Given the description of an element on the screen output the (x, y) to click on. 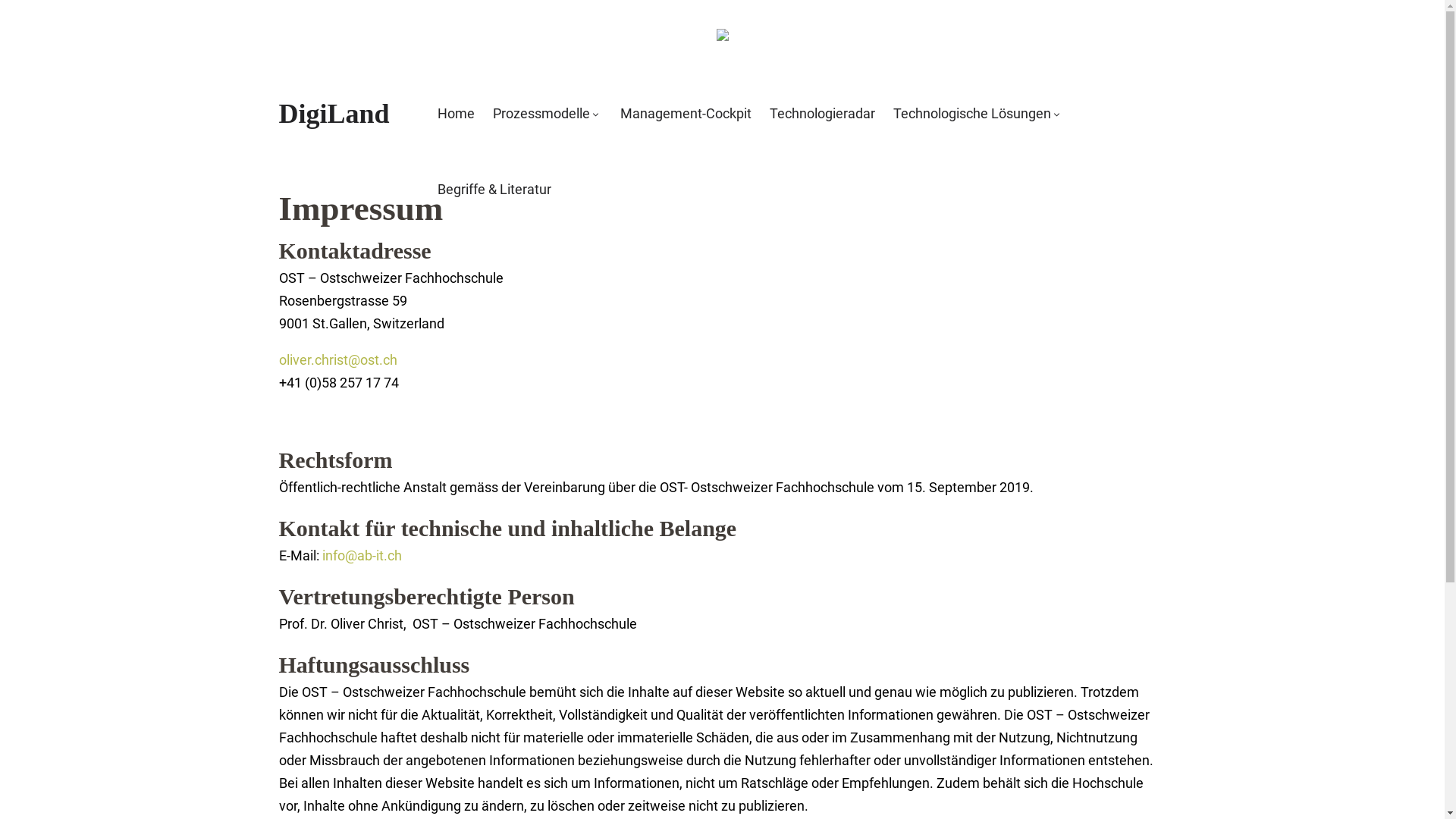
Management-Cockpit Element type: text (685, 113)
Home Element type: text (455, 113)
oliver.christ@ost.ch Element type: text (338, 359)
Technologieradar Element type: text (822, 113)
Begriffe & Literatur Element type: text (494, 189)
DigiLand Element type: text (334, 113)
info@ab-it.ch Element type: text (361, 555)
Prozessmodelle Element type: text (545, 113)
